Given the description of an element on the screen output the (x, y) to click on. 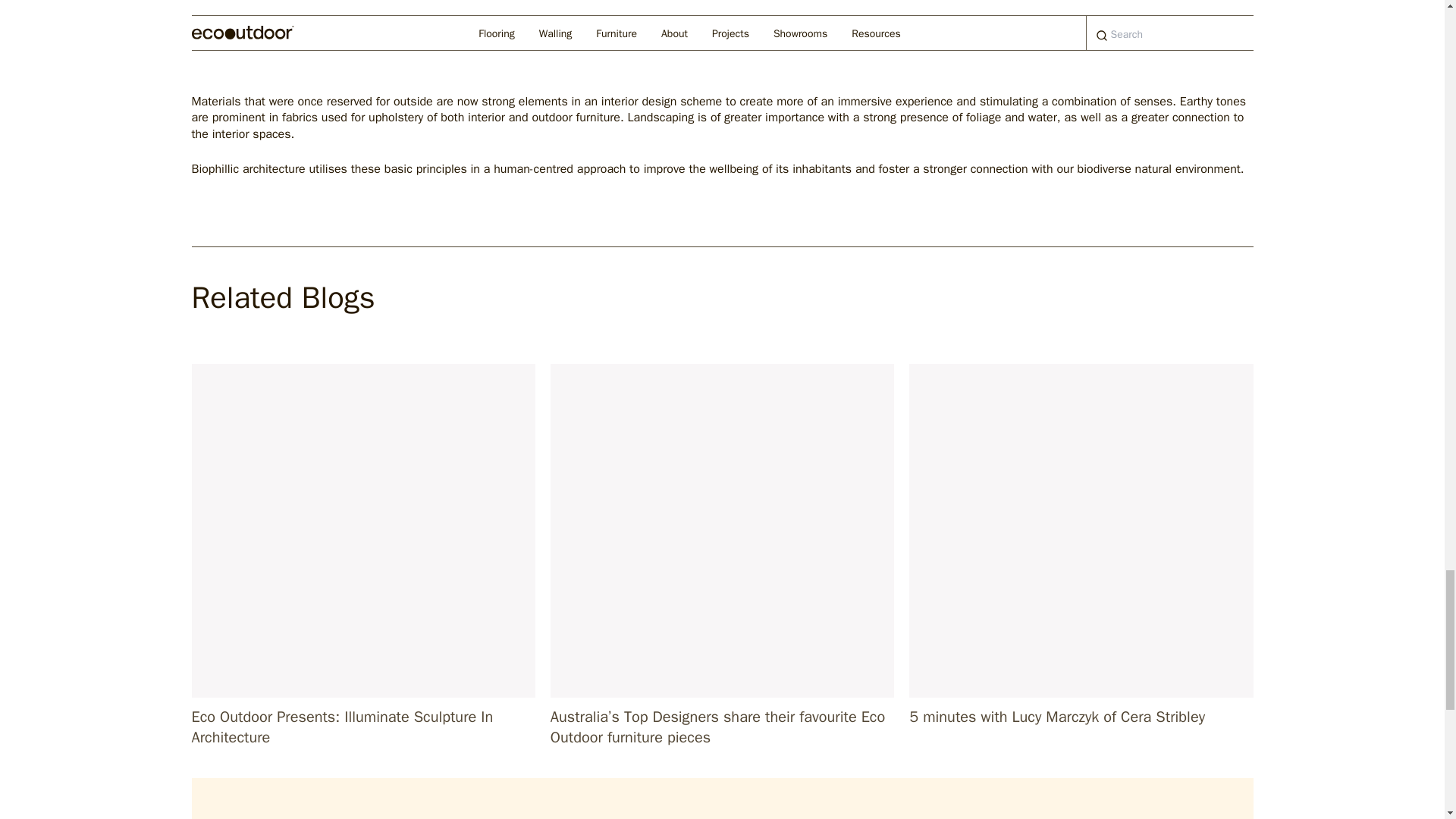
Csa Lucy 01 (1080, 530)
221107 ECO OUTDOOR DAY2 452 (362, 530)
Designers Outdoor Furniture E1573084658970 (721, 530)
